Given the description of an element on the screen output the (x, y) to click on. 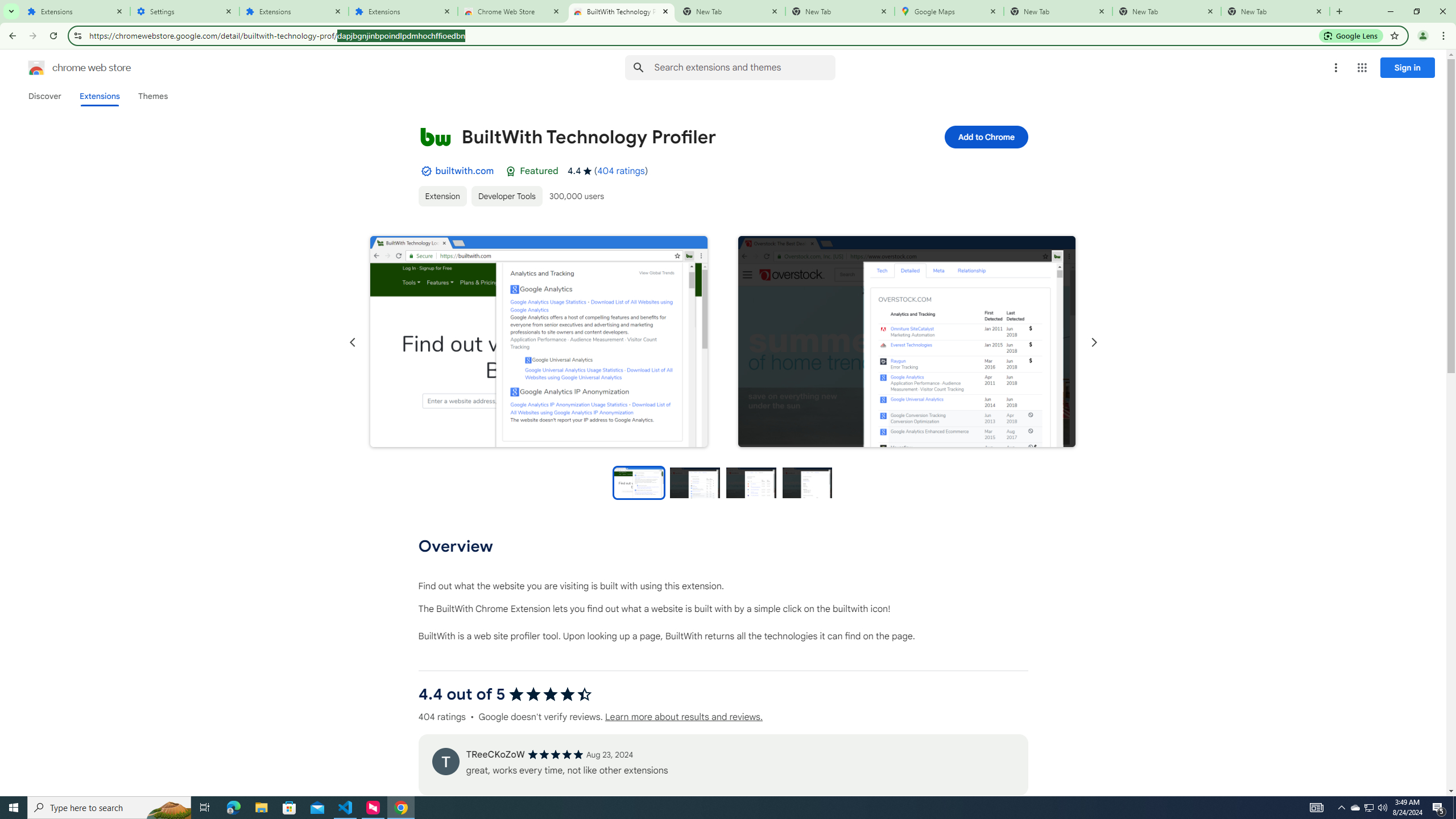
Chrome Web Store (512, 11)
Extensions (99, 95)
Item media 2 screenshot (906, 341)
More options menu (1335, 67)
Settings (184, 11)
Previous slide (352, 342)
Next slide (1093, 342)
Item logo image for BuiltWith Technology Profiler (434, 136)
Featured Badge (510, 170)
Preview slide 2 (694, 482)
